Given the description of an element on the screen output the (x, y) to click on. 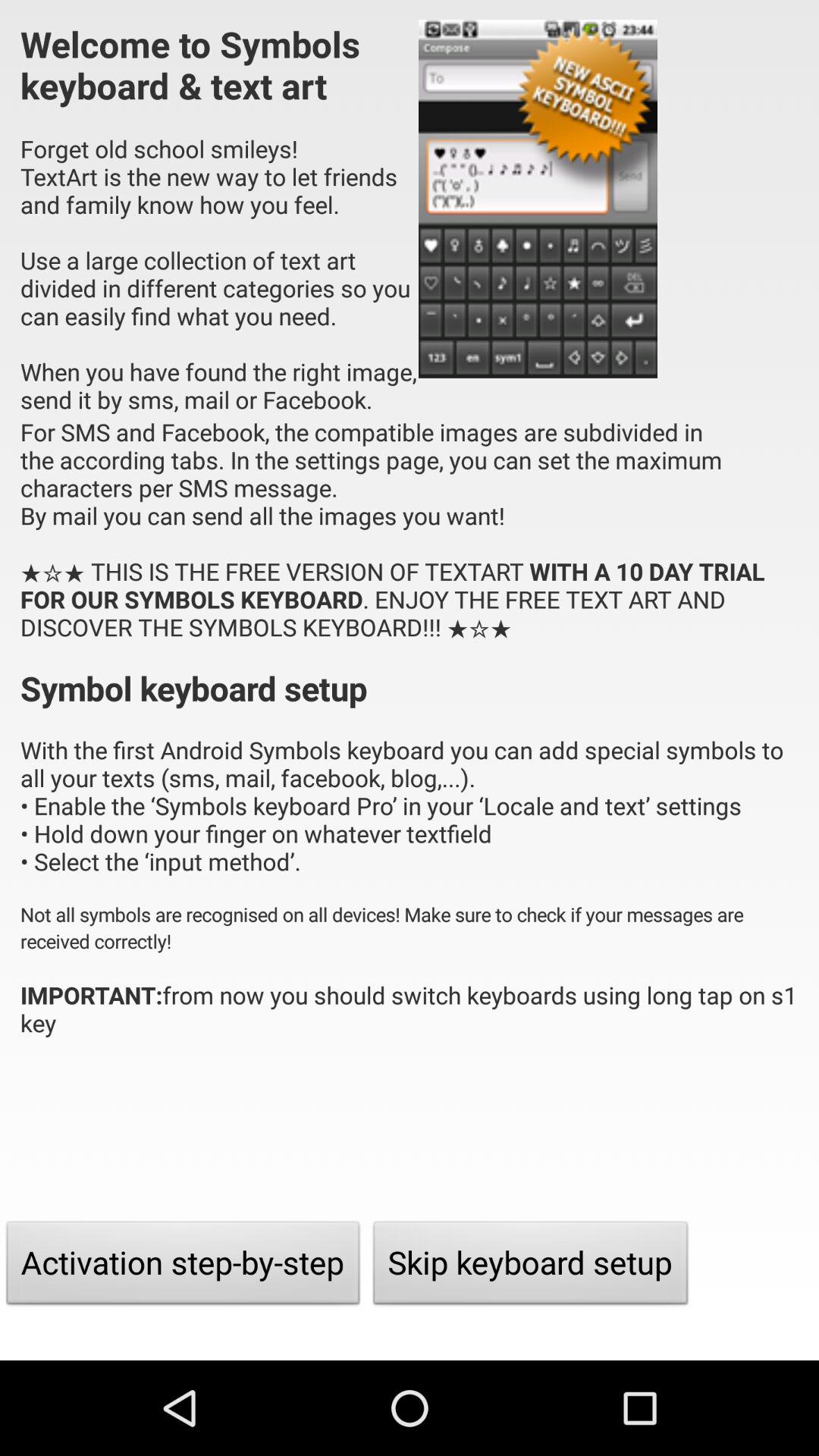
choose the button to the left of the skip keyboard setup button (183, 1266)
